Given the description of an element on the screen output the (x, y) to click on. 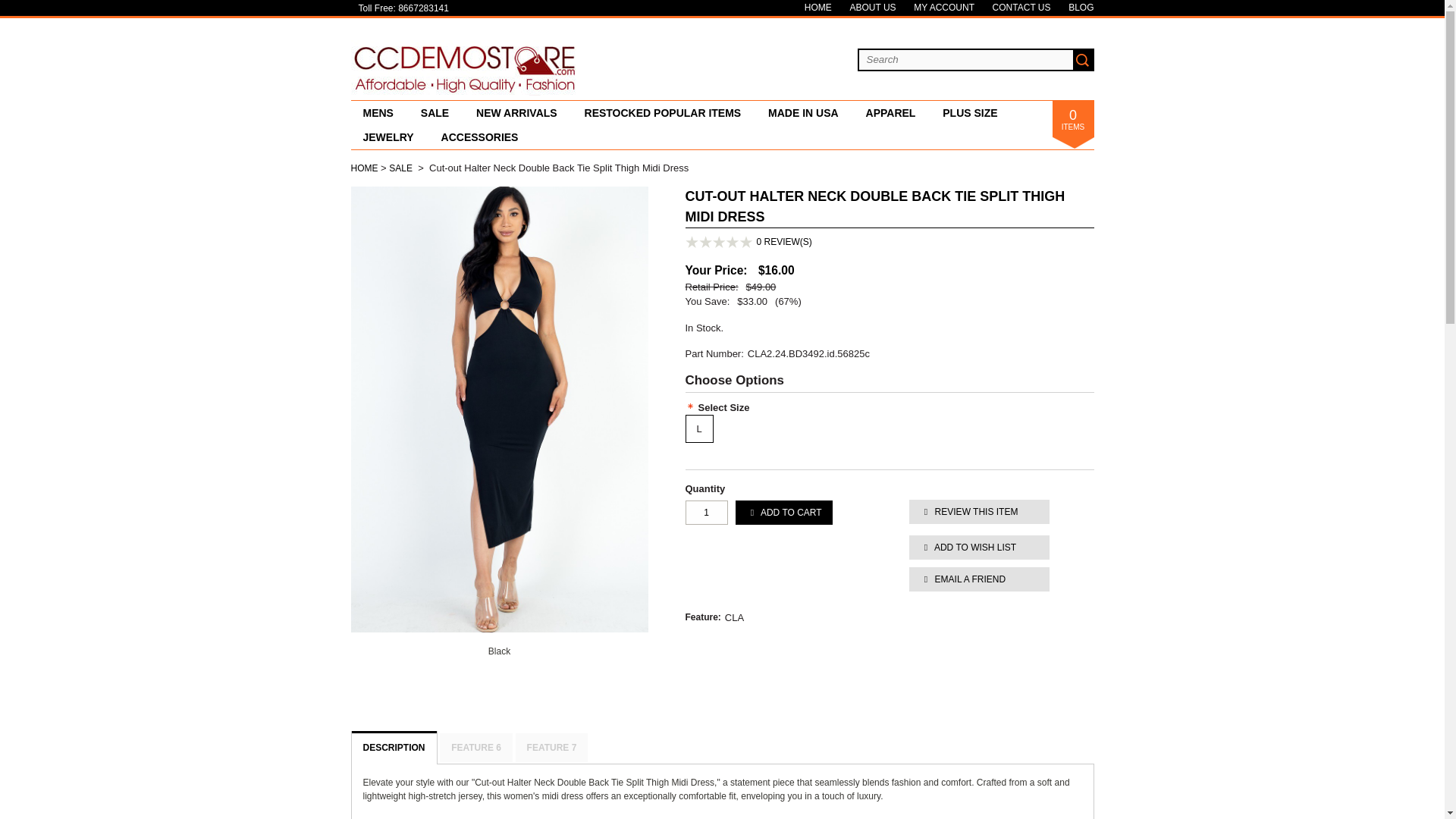
1 (706, 512)
Black   (498, 651)
CCDEMOSTORE.COM (464, 91)
L (699, 428)
